Given the description of an element on the screen output the (x, y) to click on. 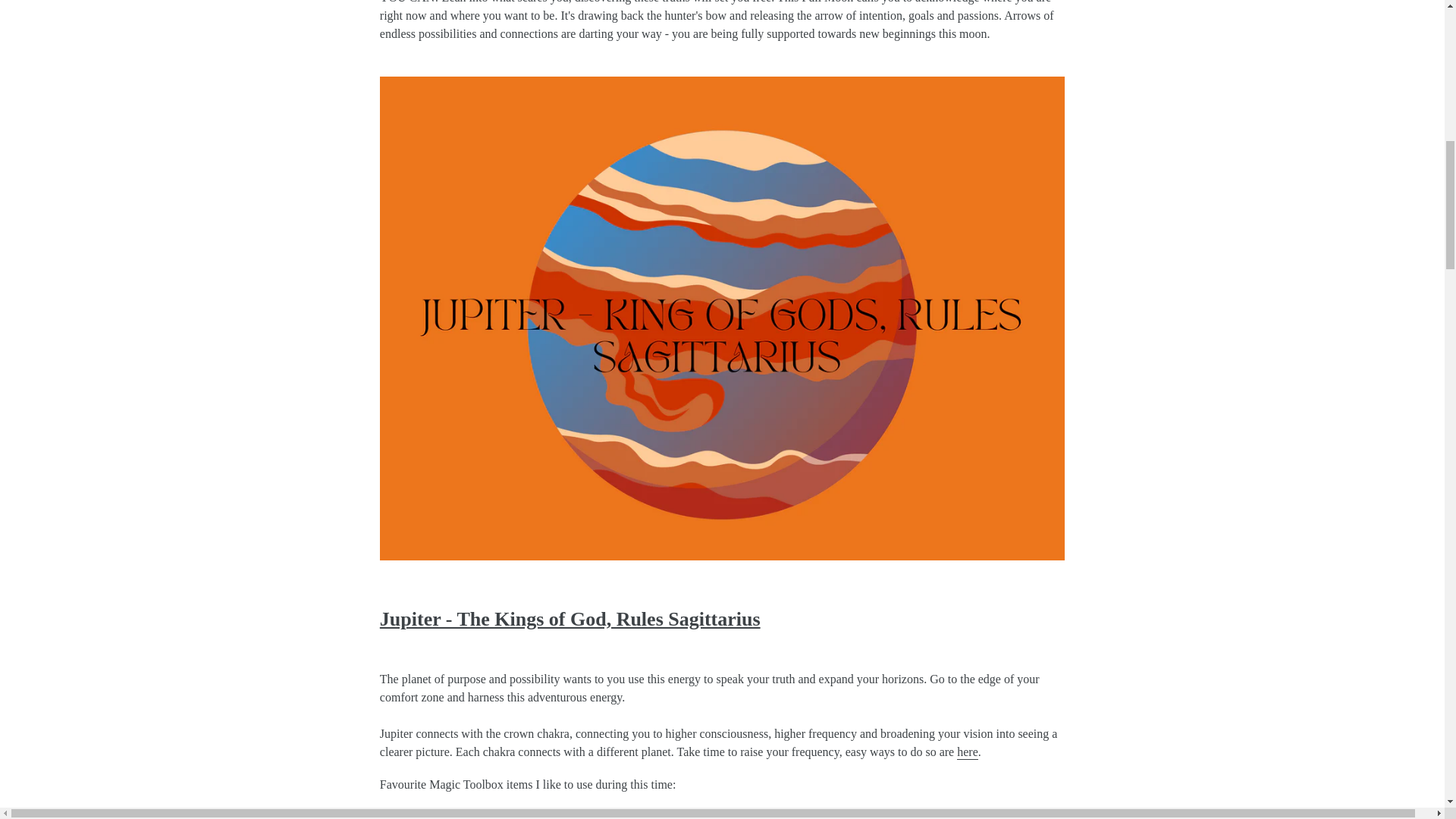
incense, sage stick, smudge sticks, smokeless smudging spray (464, 815)
5 ways to raise your vibration (967, 752)
